Given the description of an element on the screen output the (x, y) to click on. 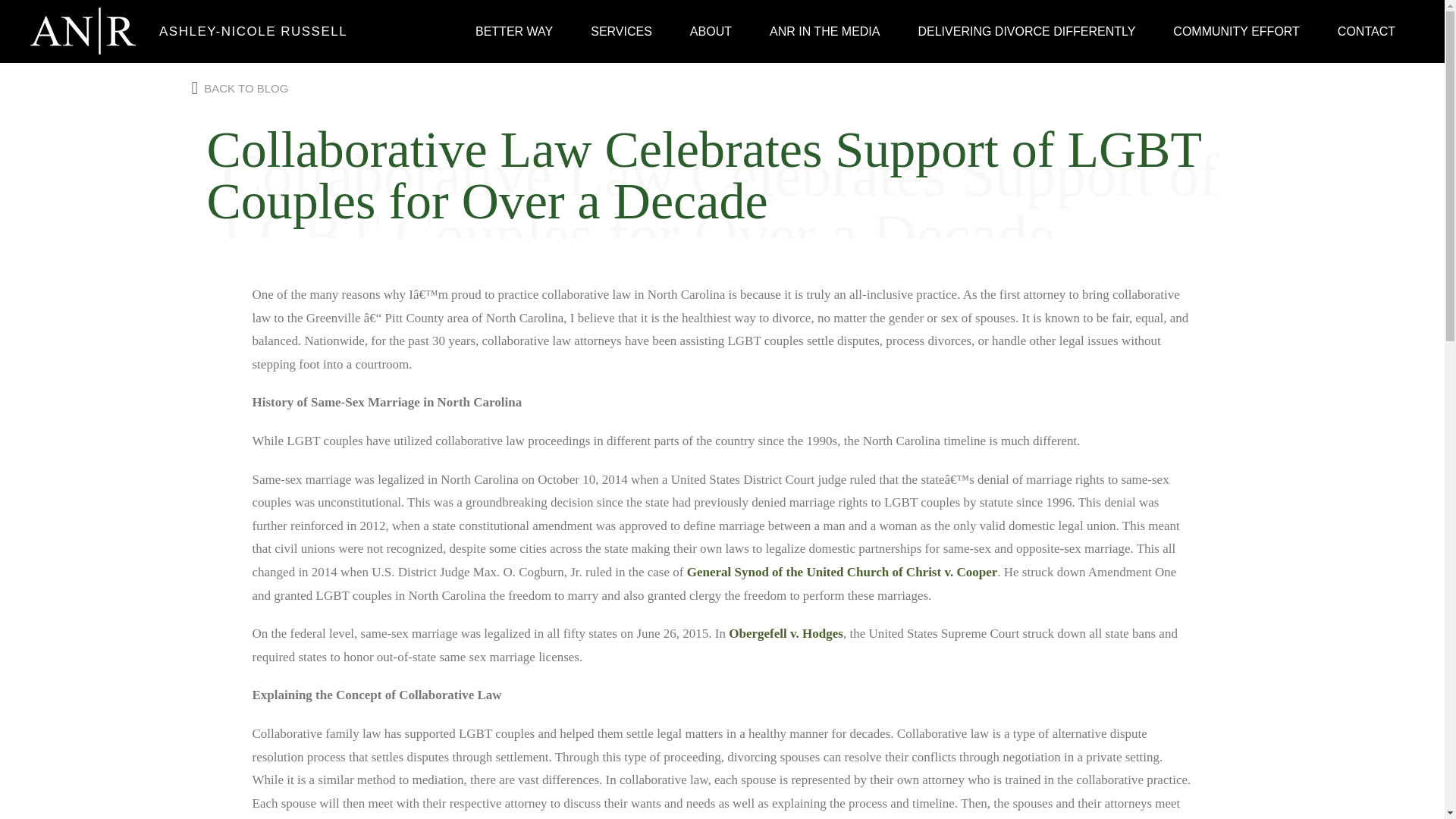
CONTACT (1366, 30)
BETTER WAY (514, 30)
ABOUT (711, 30)
The Law Offices of Ashley-Nicole Russell, P.A (245, 31)
COMMUNITY EFFORT (1236, 30)
The Law Offices of Ashley-Nicole Russell, P.A (83, 31)
ASHLEY-NICOLE RUSSELL (245, 31)
Obergefell v. Hodges (786, 633)
BACK TO BLOG (239, 86)
SERVICES (621, 30)
General Synod of the United Church of Christ v. Cooper (842, 572)
ANR IN THE MEDIA (825, 30)
DELIVERING DIVORCE DIFFERENTLY (1026, 30)
